Given the description of an element on the screen output the (x, y) to click on. 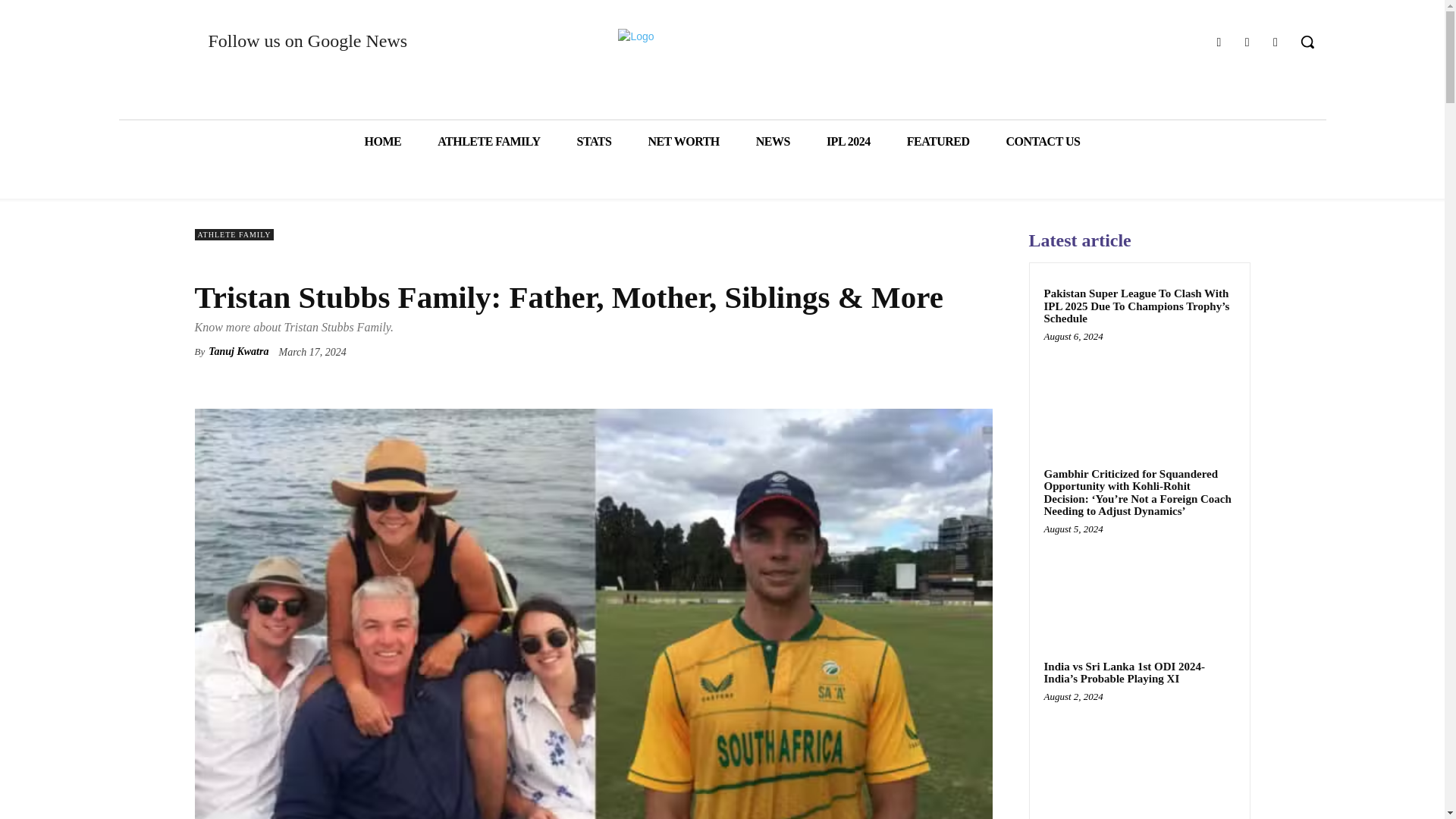
NET WORTH (682, 141)
ATHLETE FAMILY (233, 234)
ATHLETE FAMILY (488, 141)
STATS (594, 141)
Tanuj Kwatra (237, 351)
NEWS (773, 141)
Facebook (1218, 41)
Twitter (1275, 41)
CONTACT US (1043, 141)
Instagram (1246, 41)
